Given the description of an element on the screen output the (x, y) to click on. 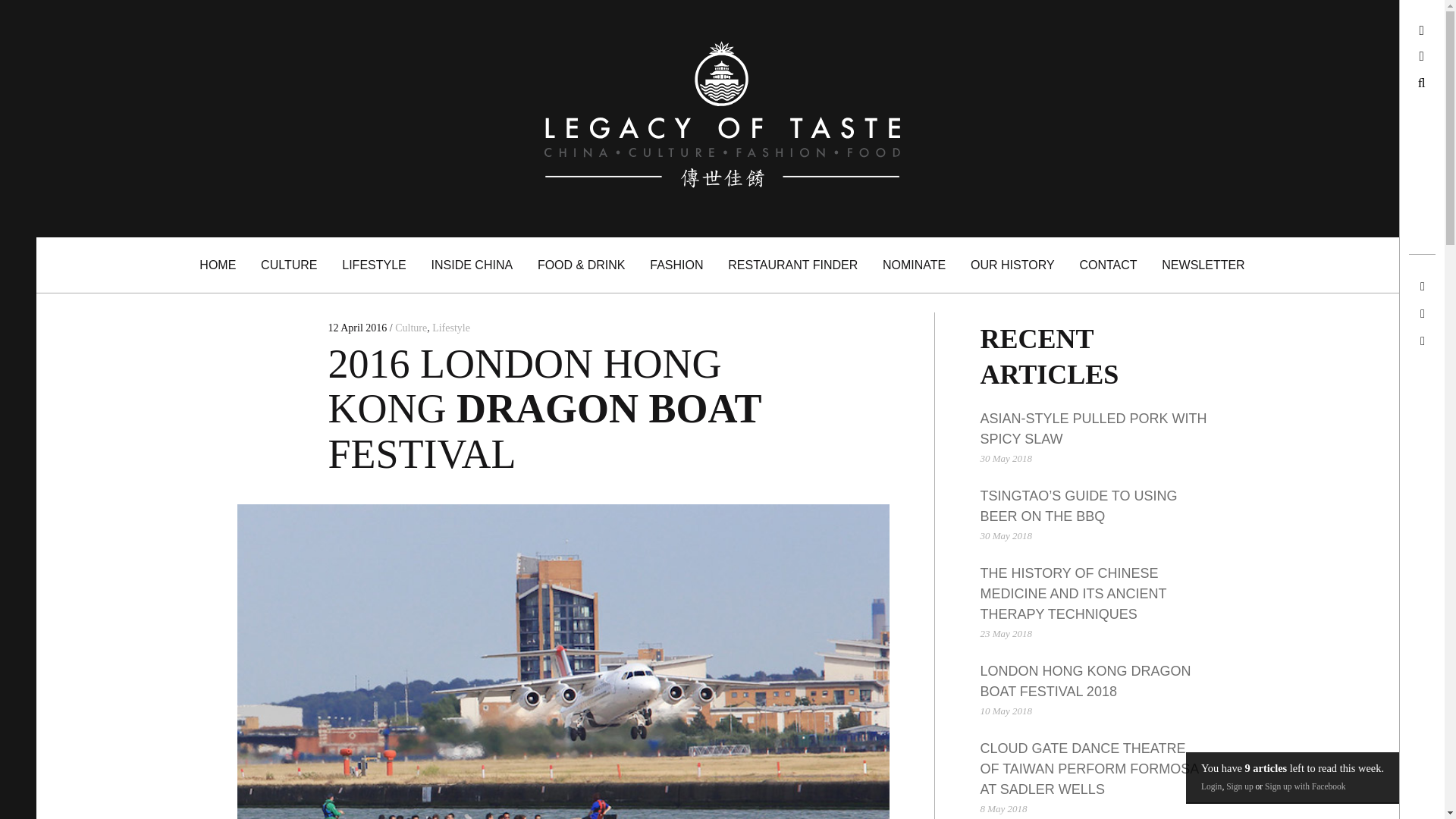
CULTURE (289, 264)
Culture (410, 327)
ASIAN-STYLE PULLED PORK WITH SPICY SLAW (1093, 428)
Lifestyle (451, 327)
CONTACT (1108, 264)
LONDON HONG KONG DRAGON BOAT FESTIVAL 2018 (1085, 681)
HOME (218, 264)
FASHION (676, 264)
LIFESTYLE (373, 264)
